Given the description of an element on the screen output the (x, y) to click on. 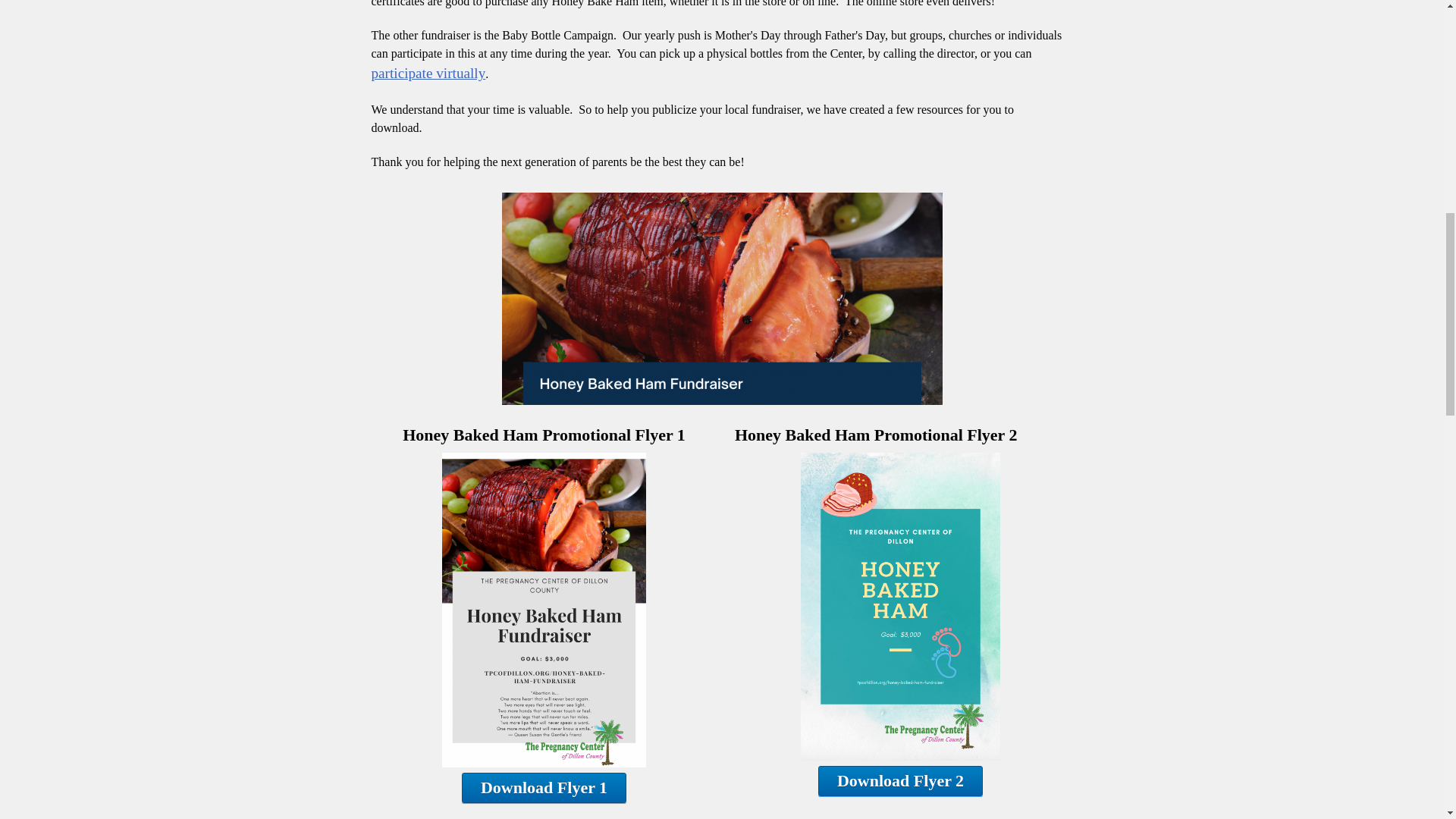
Download Flyer 1 (543, 788)
Download Flyer 2 (900, 780)
participate virtually (428, 73)
